Given the description of an element on the screen output the (x, y) to click on. 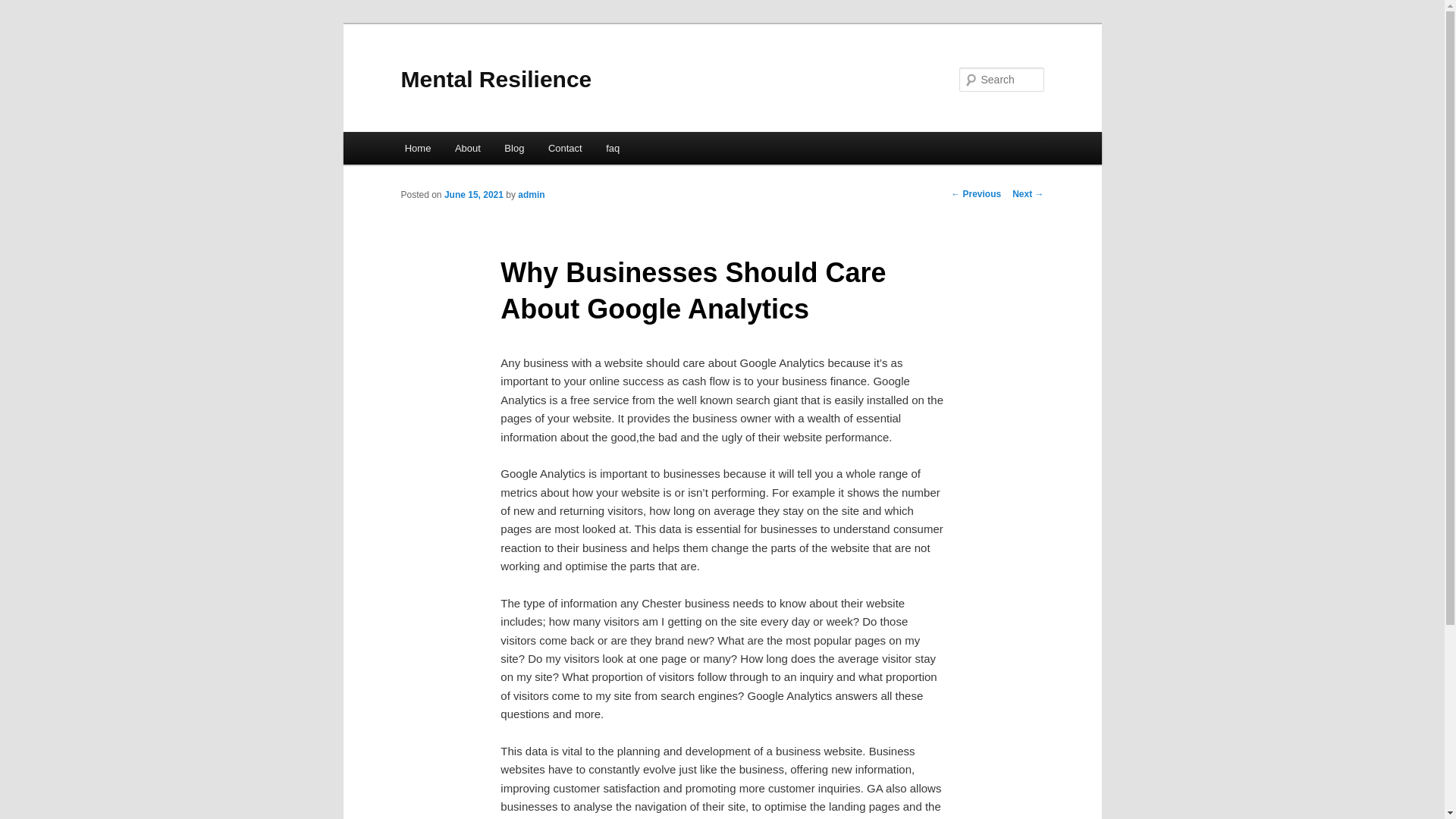
12:00 pm (473, 194)
Home (417, 147)
Blog (515, 147)
June 15, 2021 (473, 194)
View all posts by admin (531, 194)
admin (531, 194)
faq (612, 147)
Search (24, 8)
Mental Resilience (495, 78)
